Given the description of an element on the screen output the (x, y) to click on. 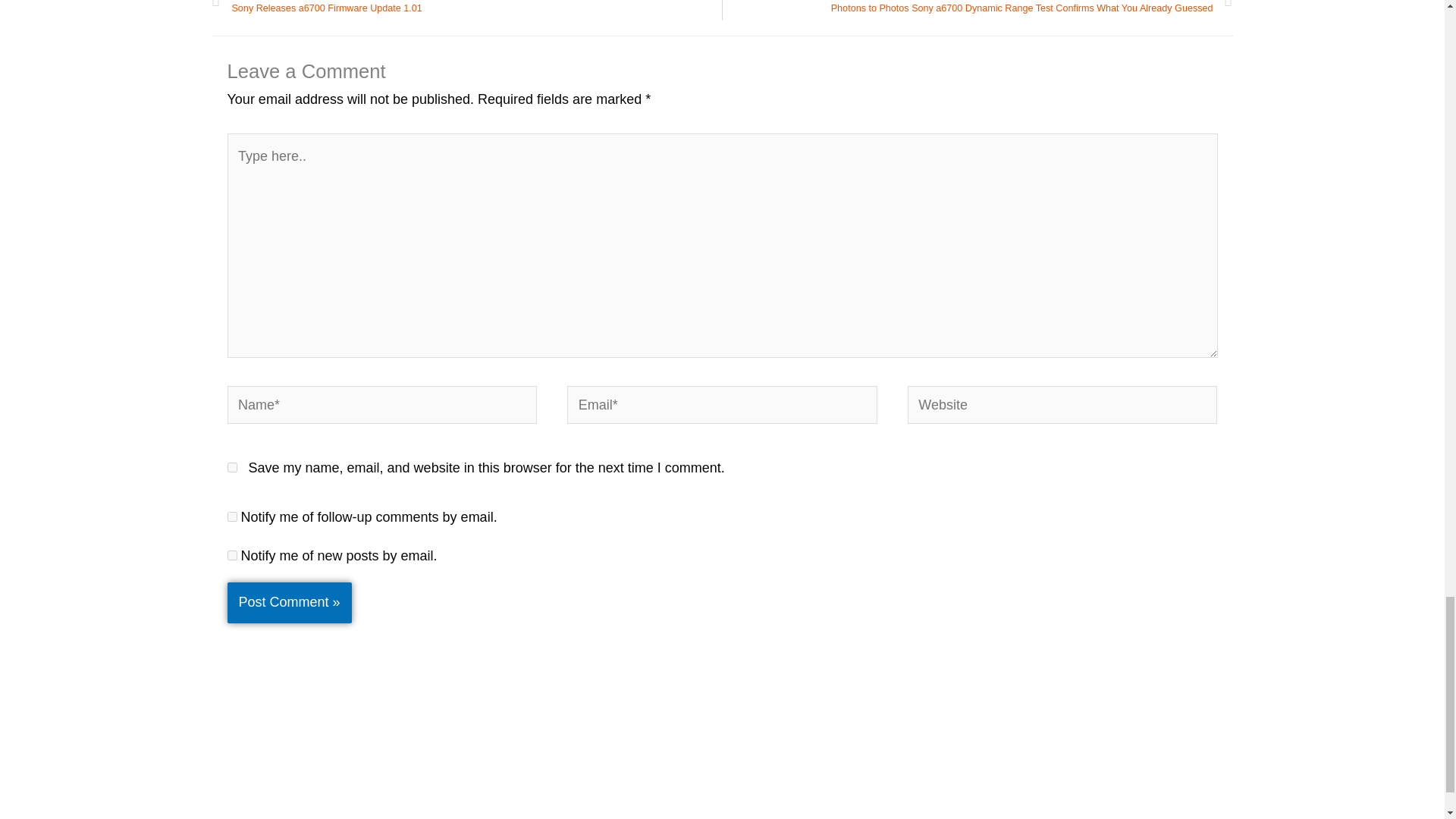
subscribe (232, 555)
yes (232, 467)
subscribe (232, 516)
